Given the description of an element on the screen output the (x, y) to click on. 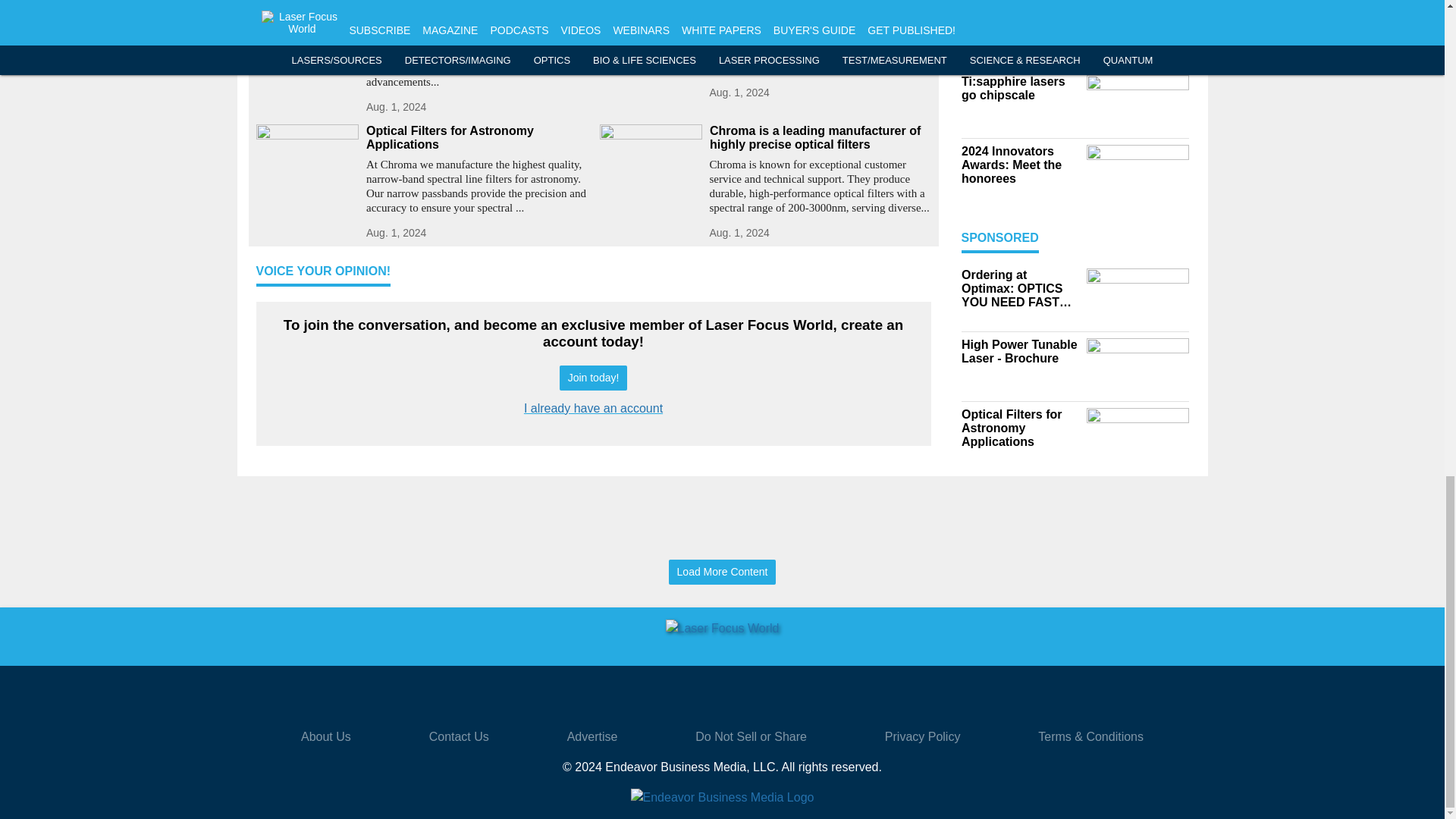
Optical Filters for Astronomy Applications (476, 137)
Join today! (593, 377)
Optical Filters for Semiconductor Inspection (820, 5)
I already have an account (593, 408)
